Given the description of an element on the screen output the (x, y) to click on. 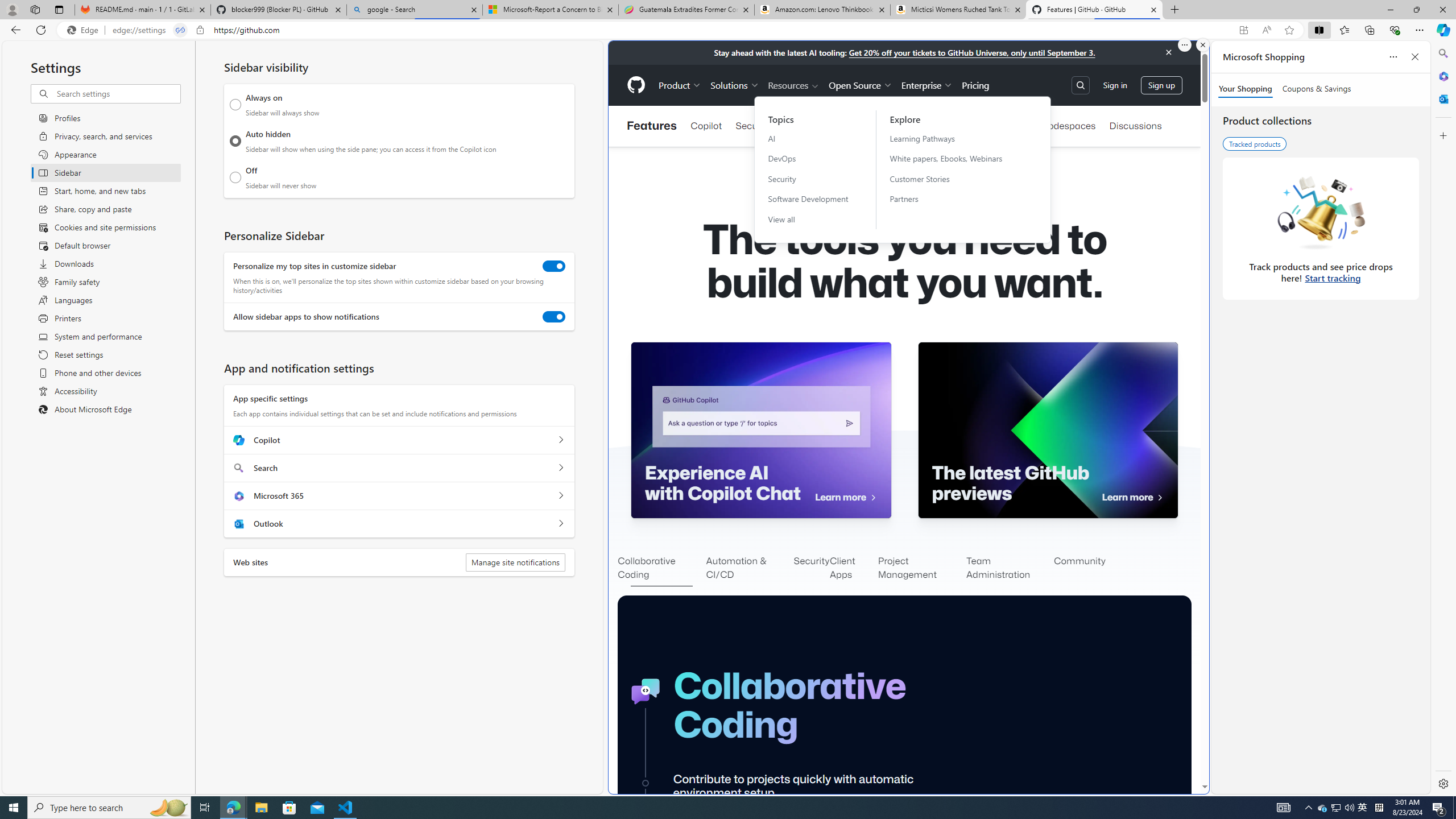
Project Management (921, 568)
Learning Pathways (952, 138)
Team Administration (1009, 568)
Codespaces (1068, 125)
View all (807, 219)
Automation & CI/CD (749, 568)
Search settings (117, 93)
Security (807, 178)
